Given the description of an element on the screen output the (x, y) to click on. 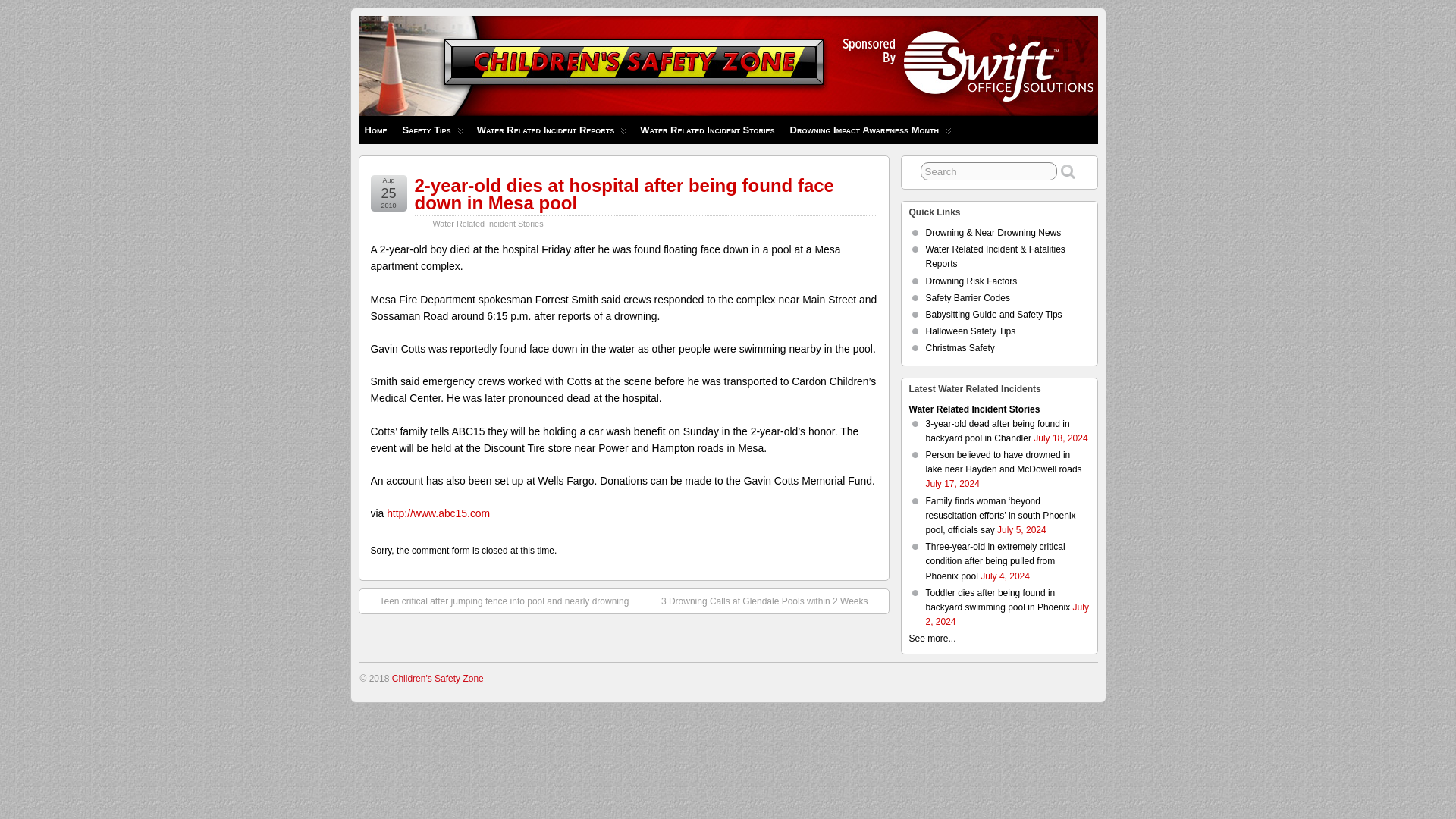
 Water Related Incident Reports (550, 129)
Children's Safety Zone (425, 80)
Home (375, 129)
 Safety Tips (431, 129)
Search (989, 171)
Search (989, 171)
